Given the description of an element on the screen output the (x, y) to click on. 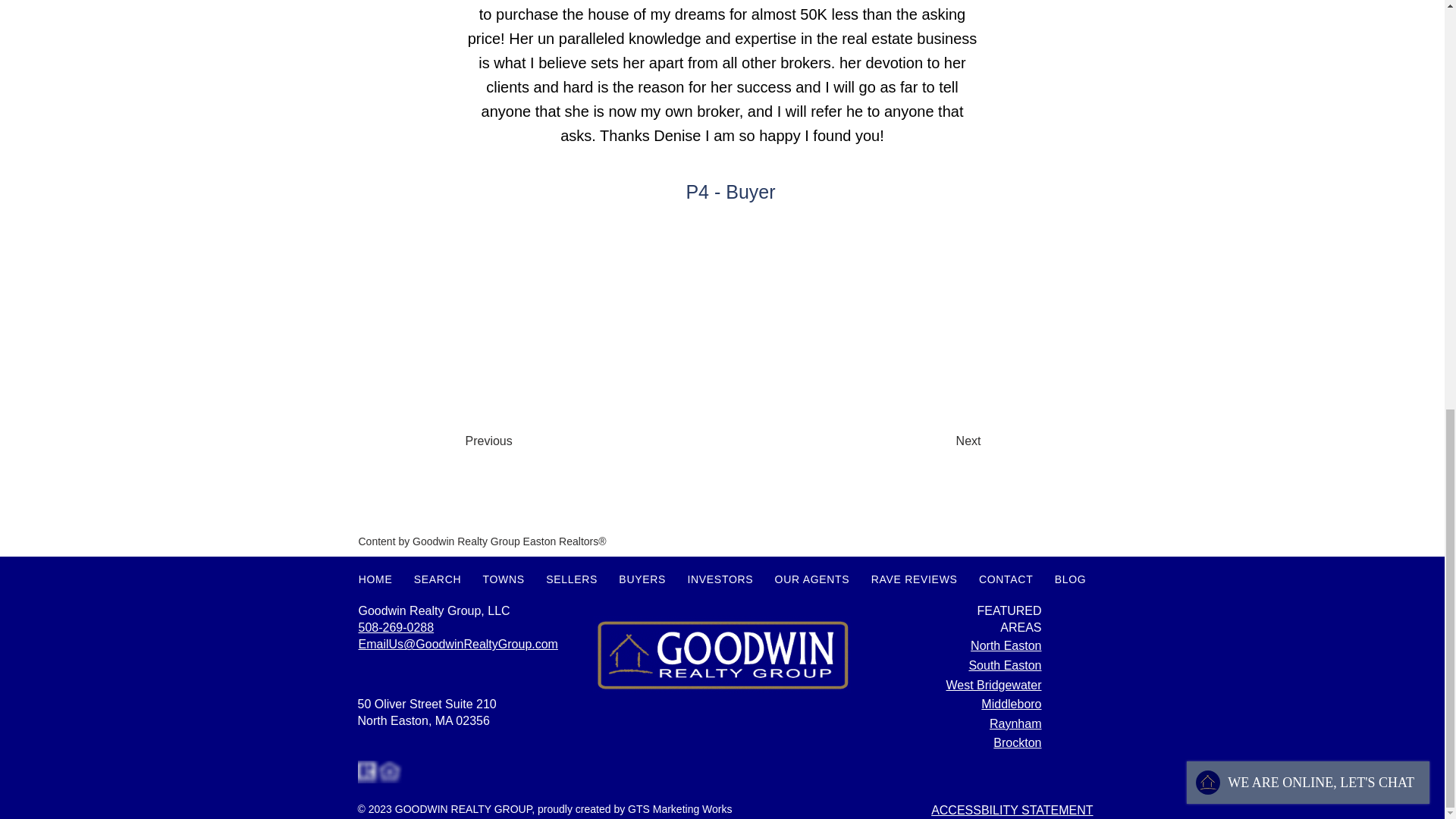
HOME (374, 579)
Previous (515, 440)
Next (943, 440)
